Given the description of an element on the screen output the (x, y) to click on. 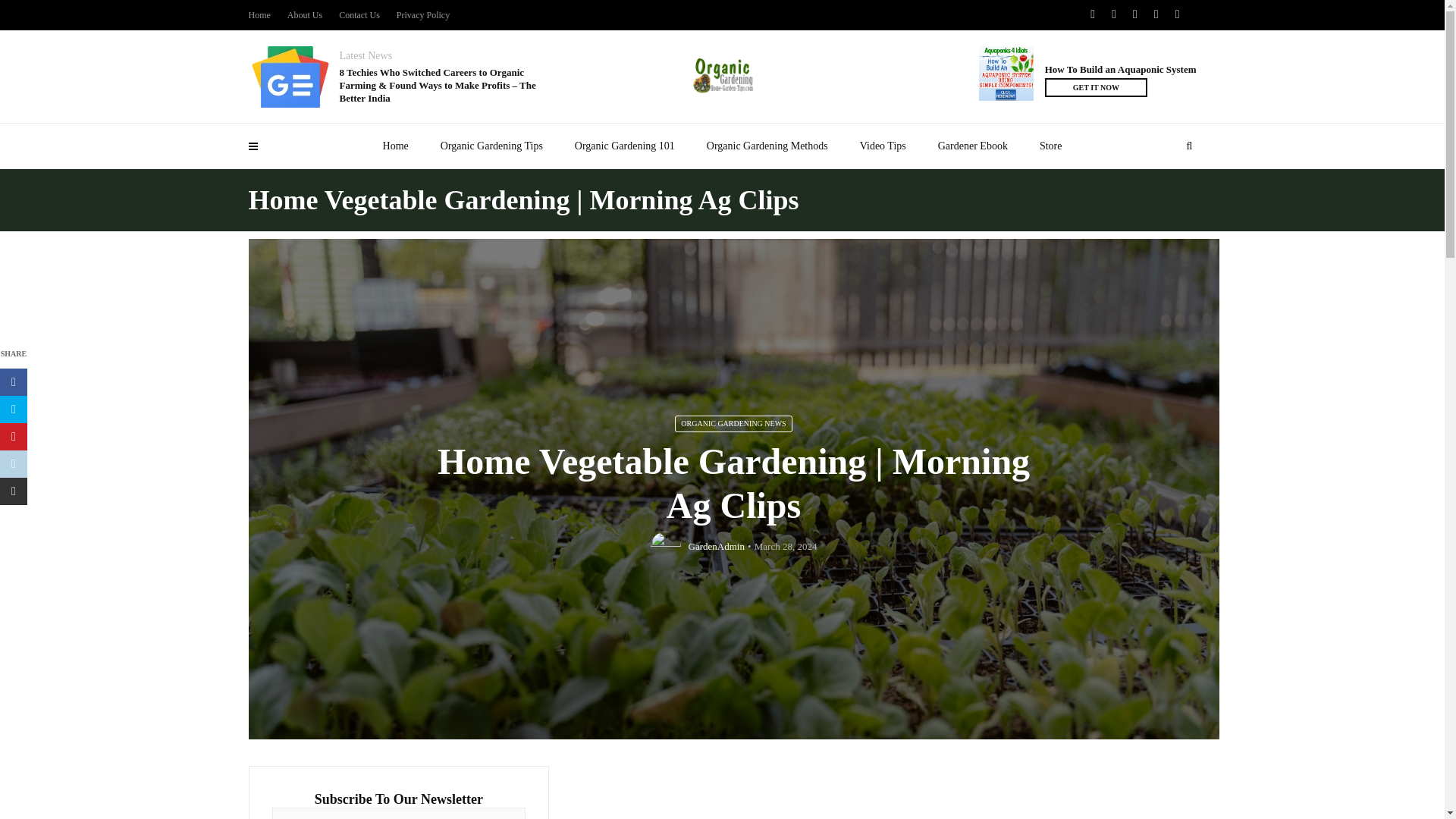
Privacy Policy (422, 15)
Video Tips (882, 145)
Gardener Ebook (972, 145)
ORGANIC GARDENING NEWS (733, 423)
GardenAdmin (716, 546)
Organic Gardening 101 (624, 145)
Organic Gardening Methods (767, 145)
Home (395, 145)
Organic Gardening Tips (492, 145)
Contact Us (359, 15)
About Us (303, 15)
How To Build an Aquaponic System (1120, 69)
Store (1050, 145)
GET IT NOW (1096, 87)
